Given the description of an element on the screen output the (x, y) to click on. 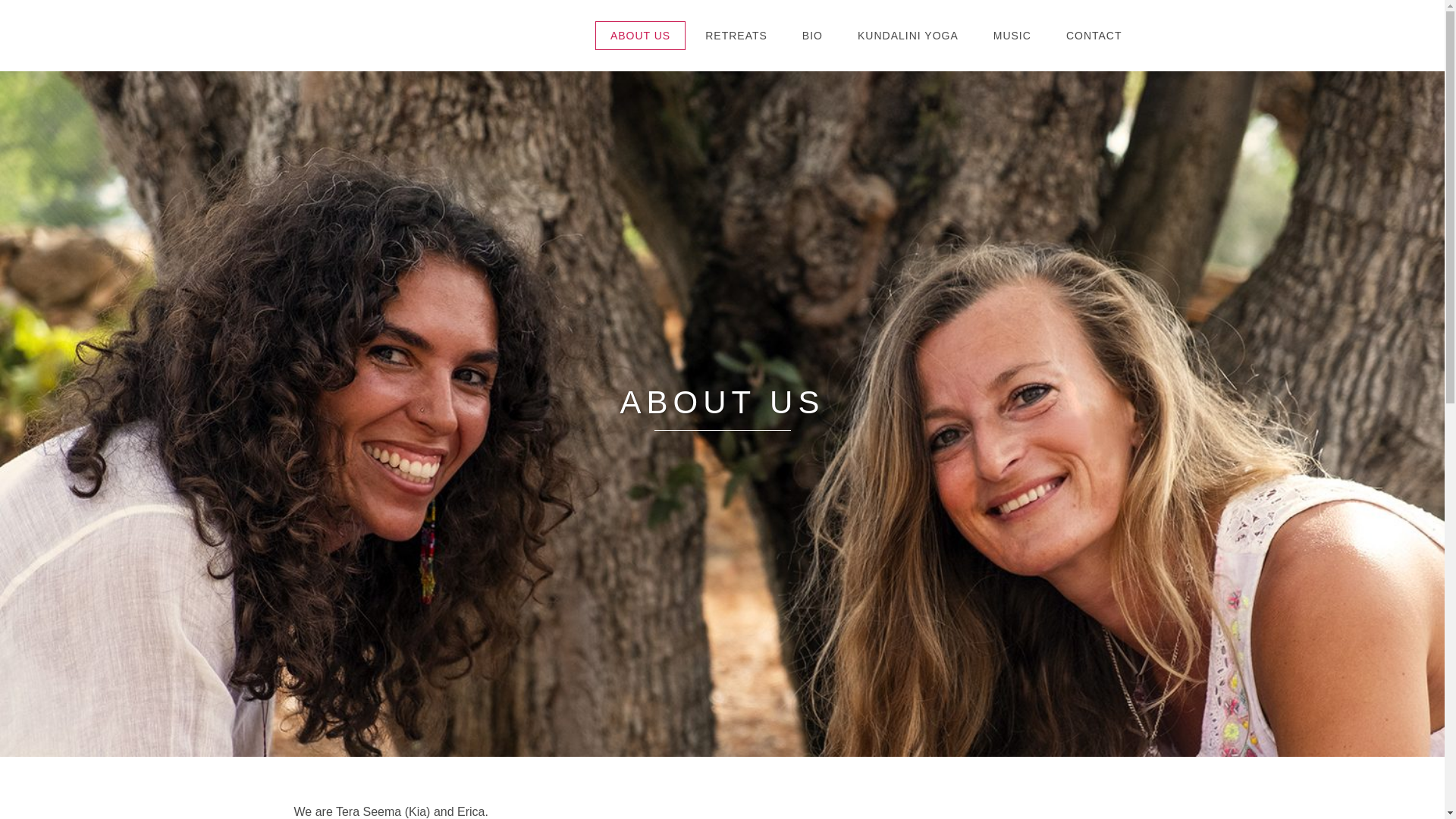
KUNDALINI YOGA (908, 35)
RETREATS (736, 35)
MUSIC (1012, 35)
CONTACT (1094, 35)
ABOUT US (640, 35)
